Given the description of an element on the screen output the (x, y) to click on. 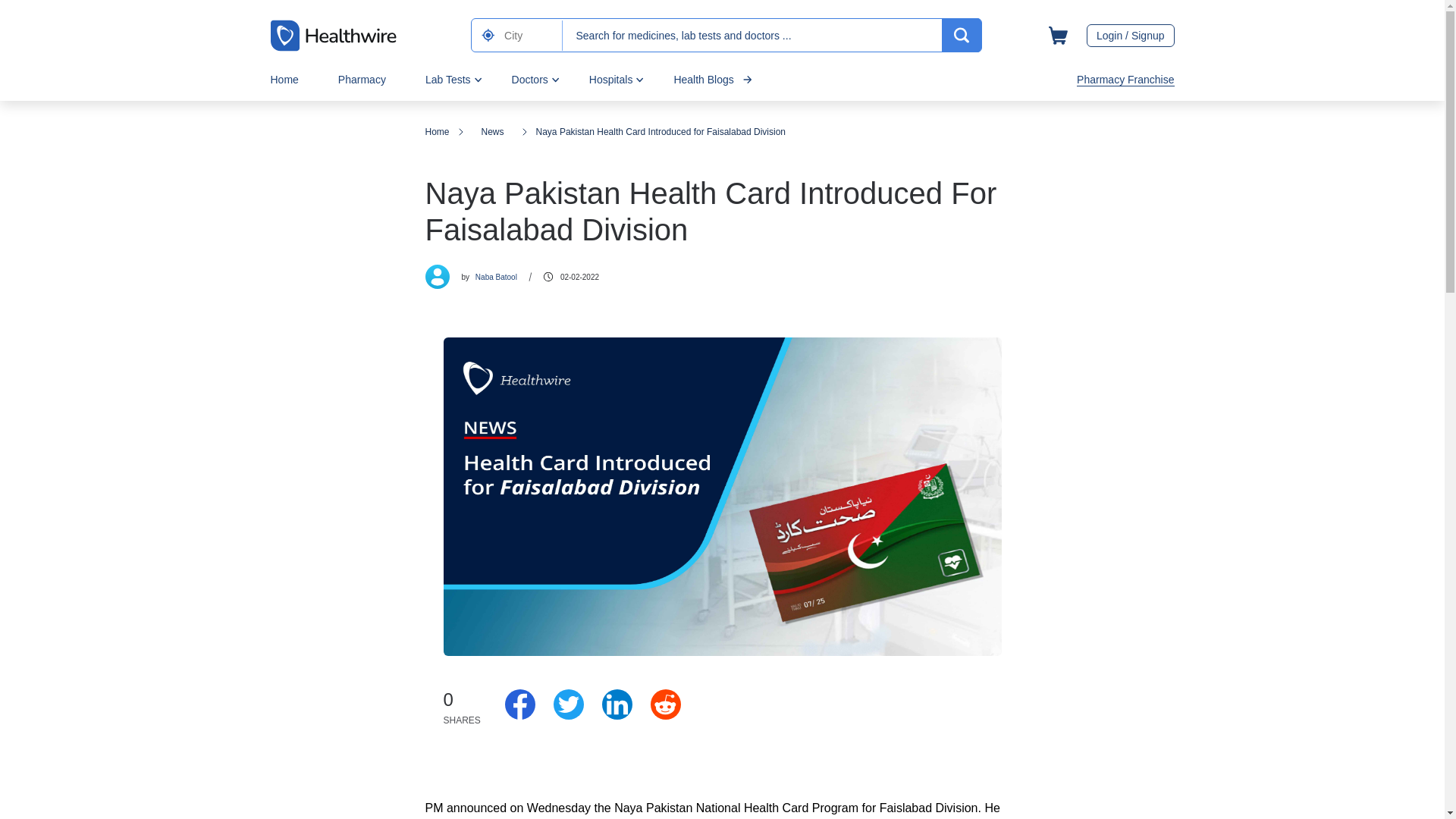
Author (436, 276)
Home (283, 79)
Pharmacy (361, 79)
Lab Tests (447, 79)
Doctors (530, 79)
